Given the description of an element on the screen output the (x, y) to click on. 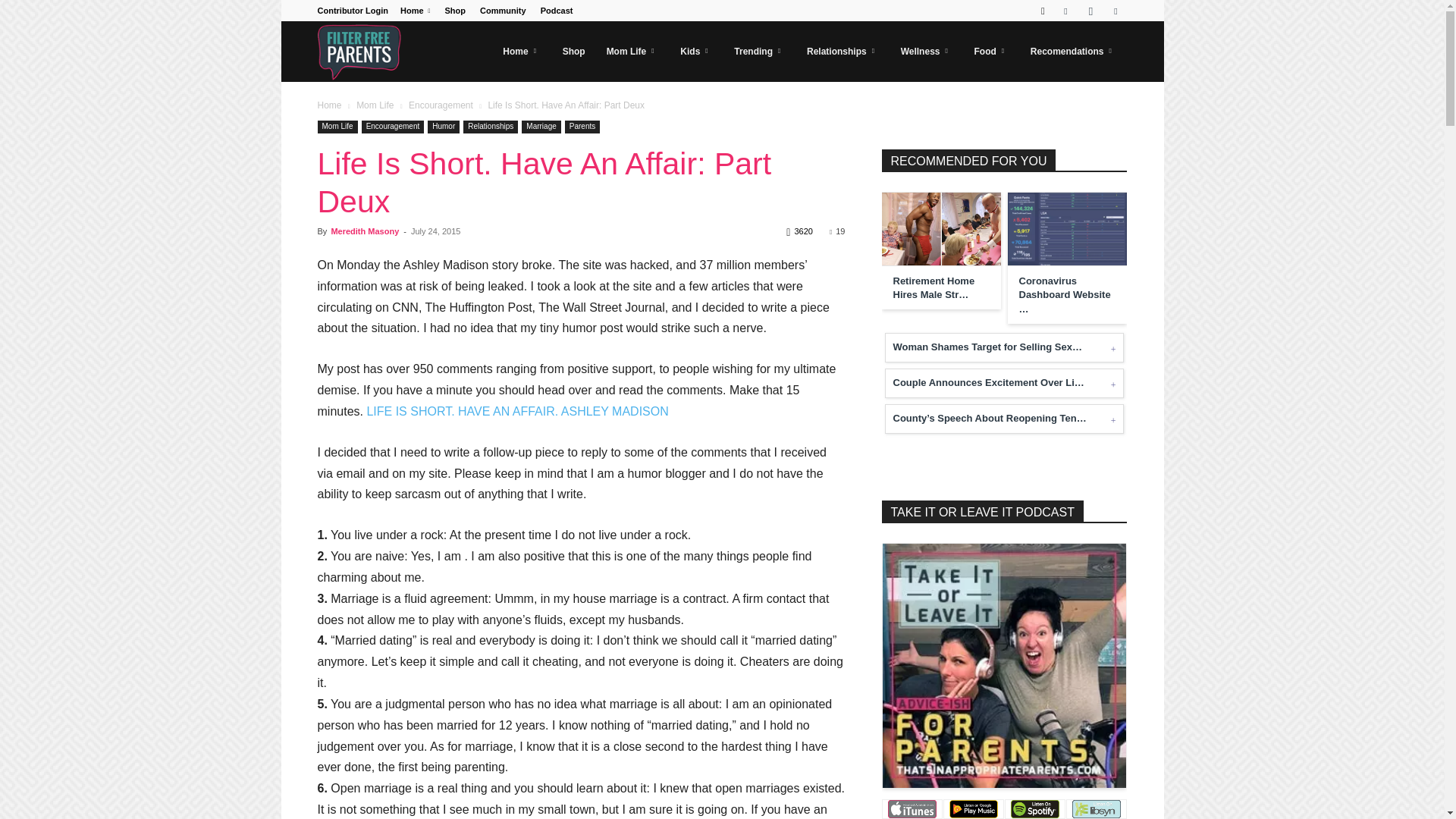
Instagram (1090, 10)
Facebook (1065, 10)
Contributor Login (352, 10)
Pinterest (1114, 10)
Home (414, 10)
